Given the description of an element on the screen output the (x, y) to click on. 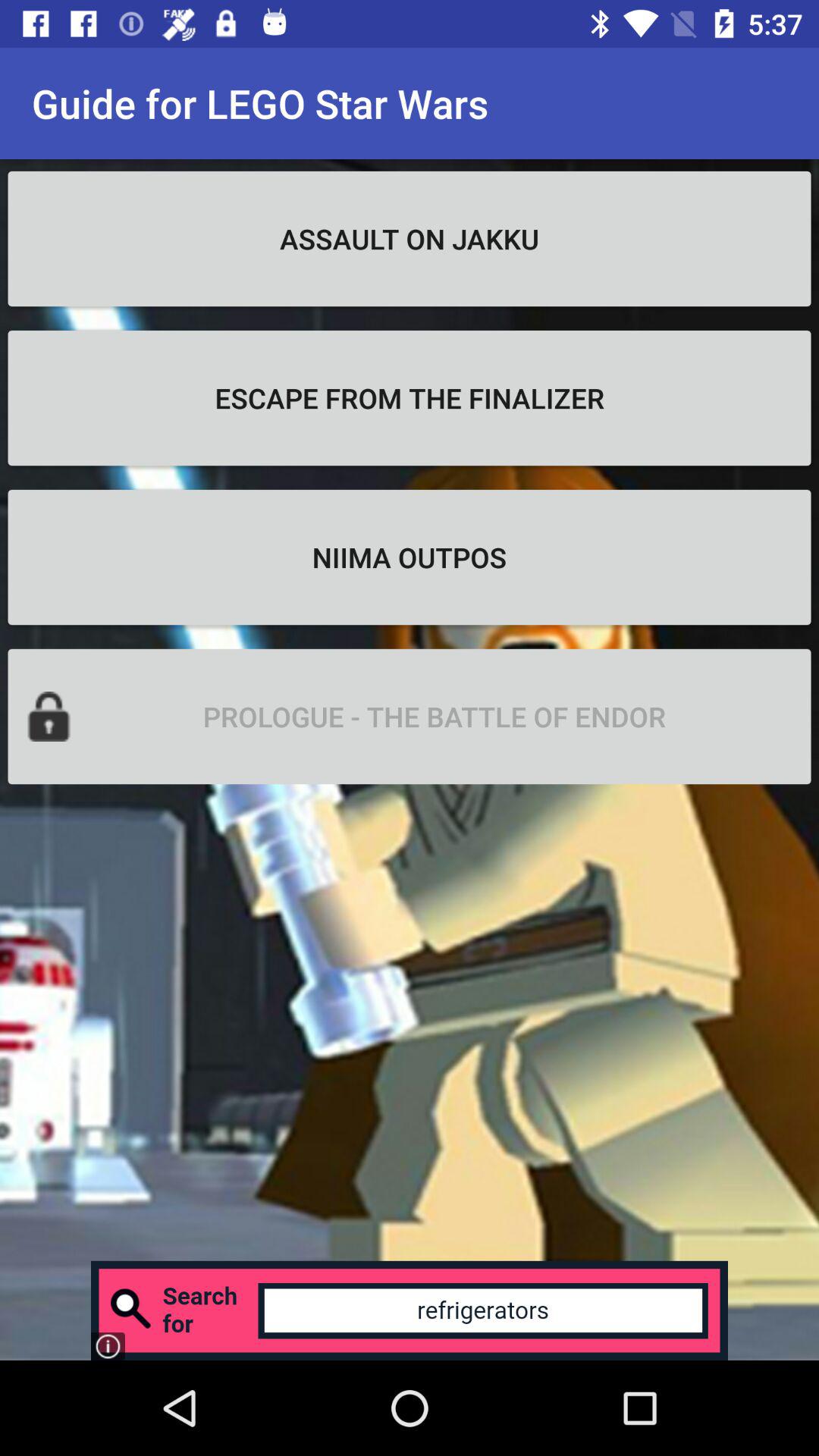
adsto watch (409, 1310)
